Given the description of an element on the screen output the (x, y) to click on. 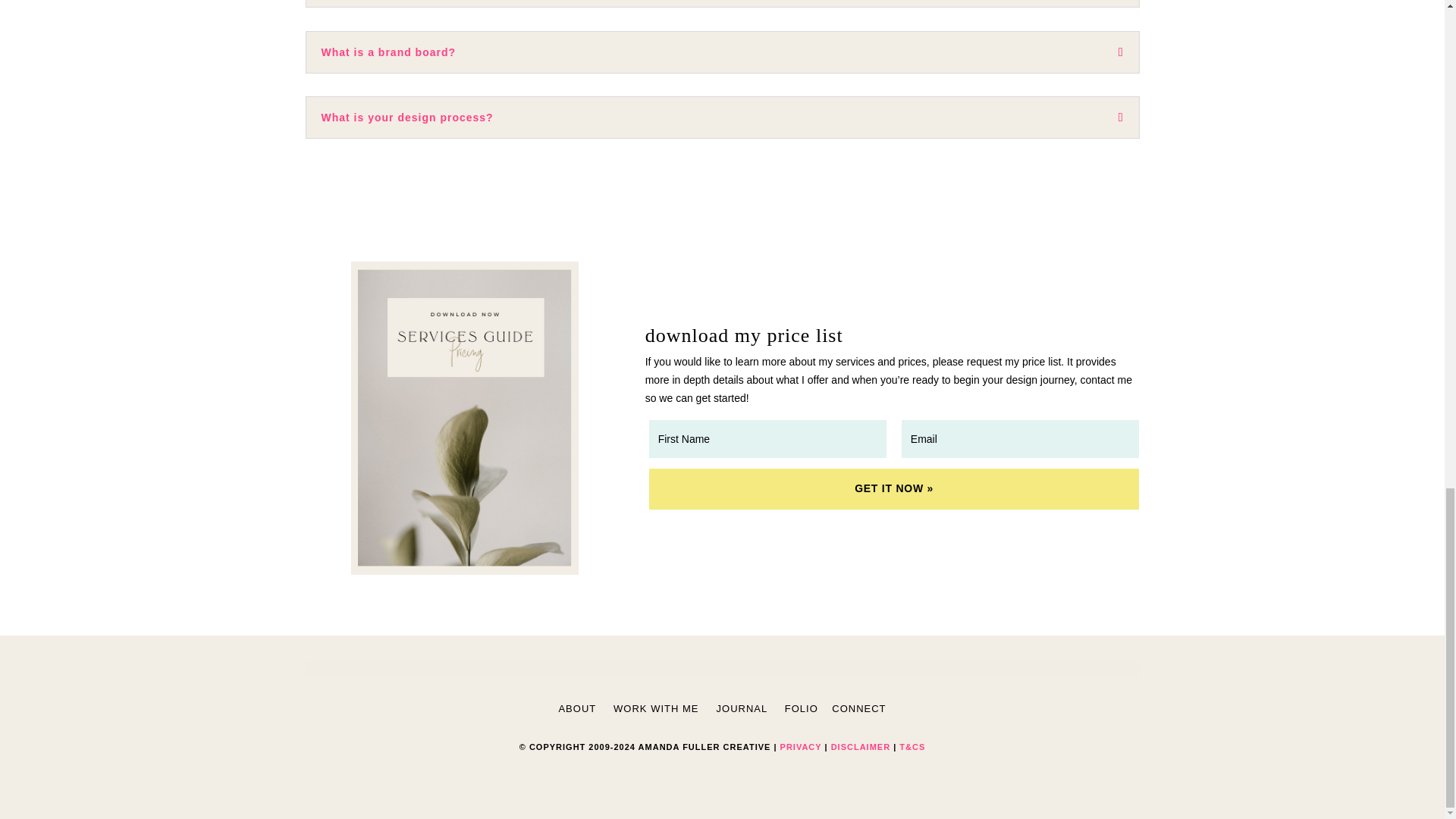
WORK WITH ME (655, 708)
PRIVACY (801, 746)
ABOUT (576, 708)
FOLIO (801, 708)
JOURNAL (741, 708)
DISCLAIMER (860, 746)
CONNECT (858, 708)
